Given the description of an element on the screen output the (x, y) to click on. 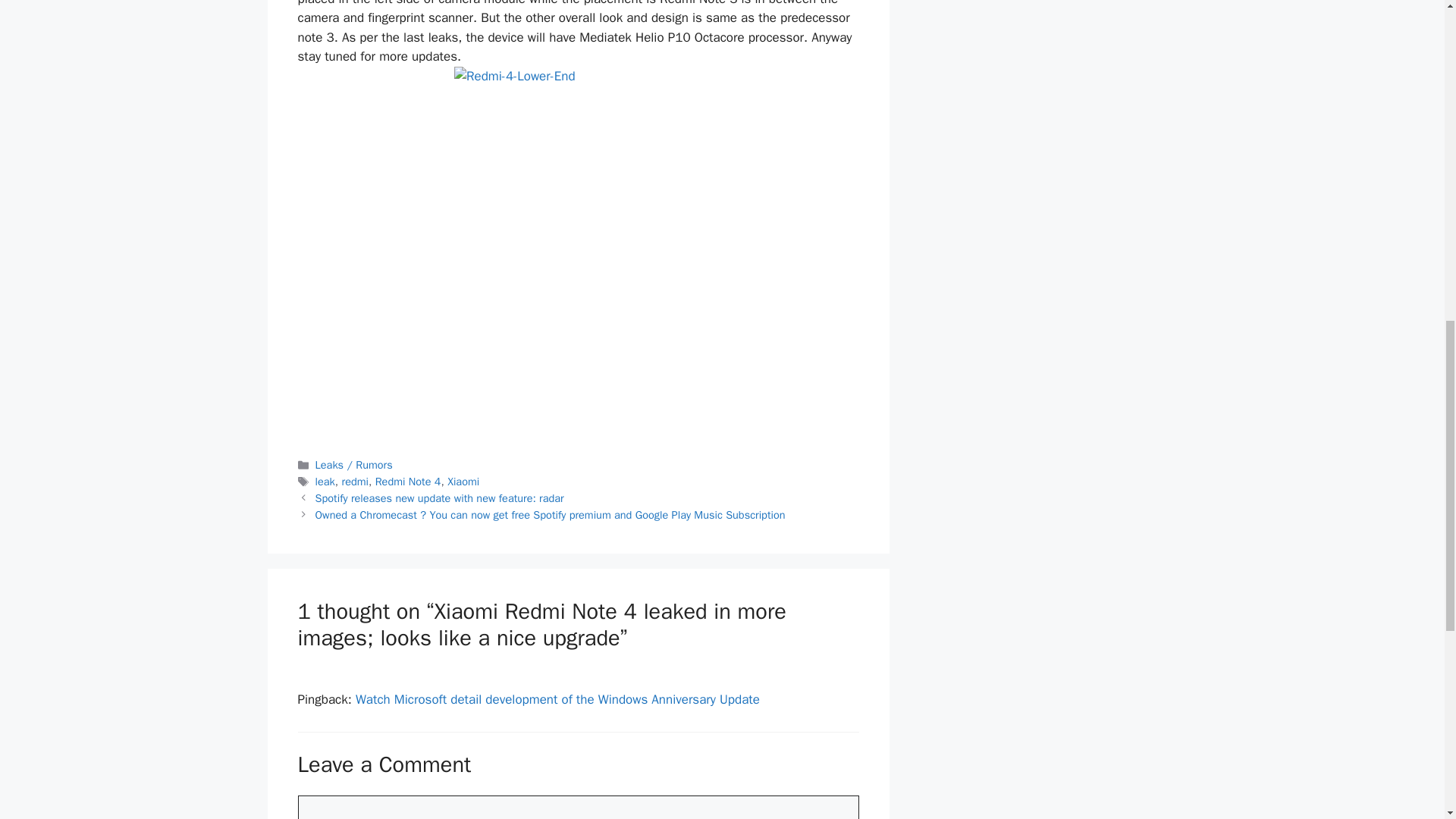
leak (324, 481)
Spotify releases new update with new feature: radar (439, 498)
redmi (355, 481)
Redmi Note 4 (408, 481)
Xiaomi (462, 481)
